Given the description of an element on the screen output the (x, y) to click on. 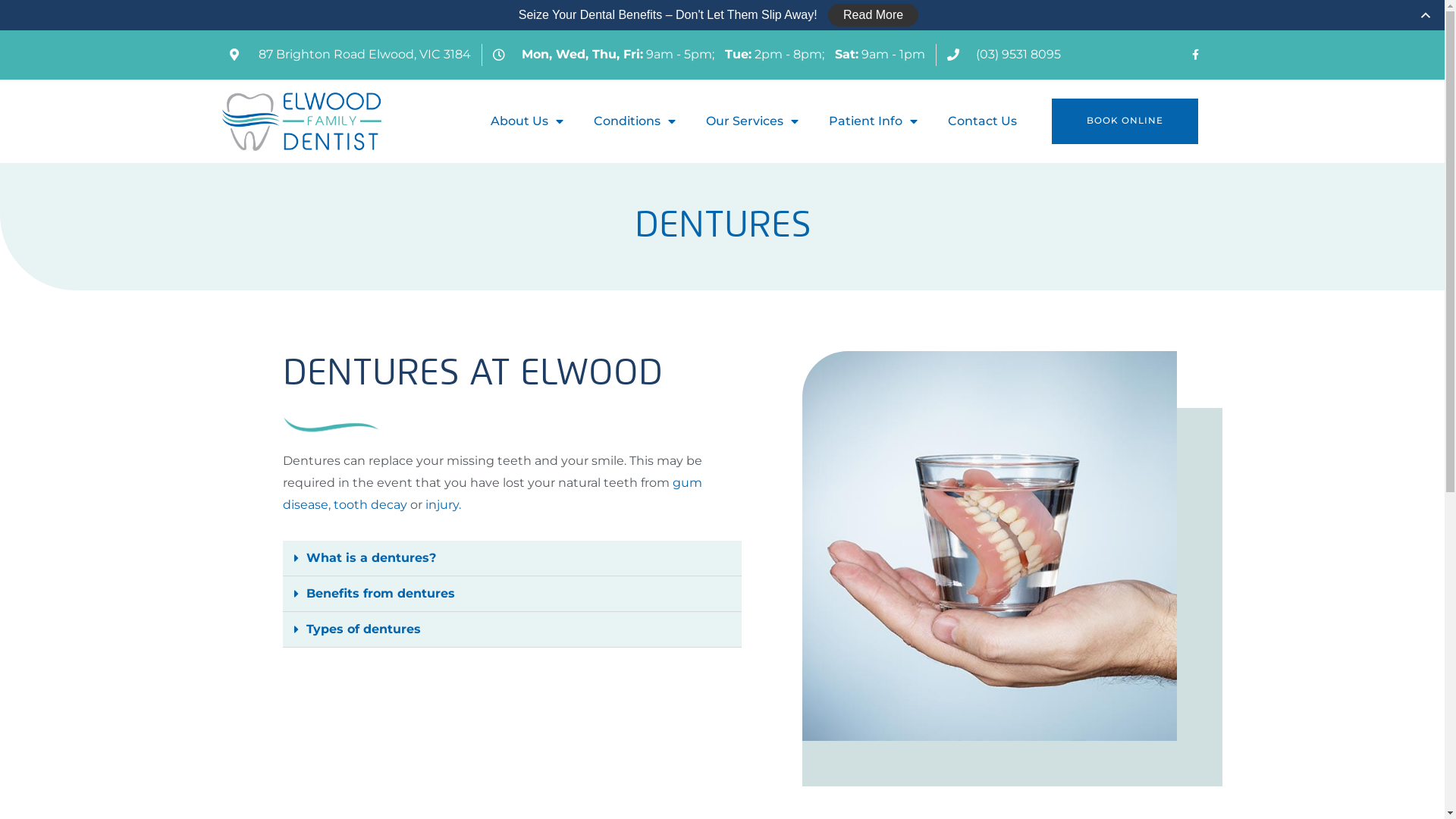
Contact Us Element type: text (982, 120)
gum disease Element type: text (491, 493)
Conditions Element type: text (634, 120)
BOOK ONLINE Element type: text (1124, 121)
injury. Element type: text (442, 504)
(03) 9531 8095 Element type: text (1003, 54)
Benefits from dentures Element type: text (380, 593)
Patient Info Element type: text (872, 120)
Our Services Element type: text (751, 120)
87 Brighton Road Elwood, VIC 3184 Element type: text (349, 54)
Types of dentures Element type: text (363, 628)
tooth decay Element type: text (370, 504)
About Us Element type: text (526, 120)
What is a dentures? Element type: text (371, 557)
Read More Element type: text (873, 14)
